Given the description of an element on the screen output the (x, y) to click on. 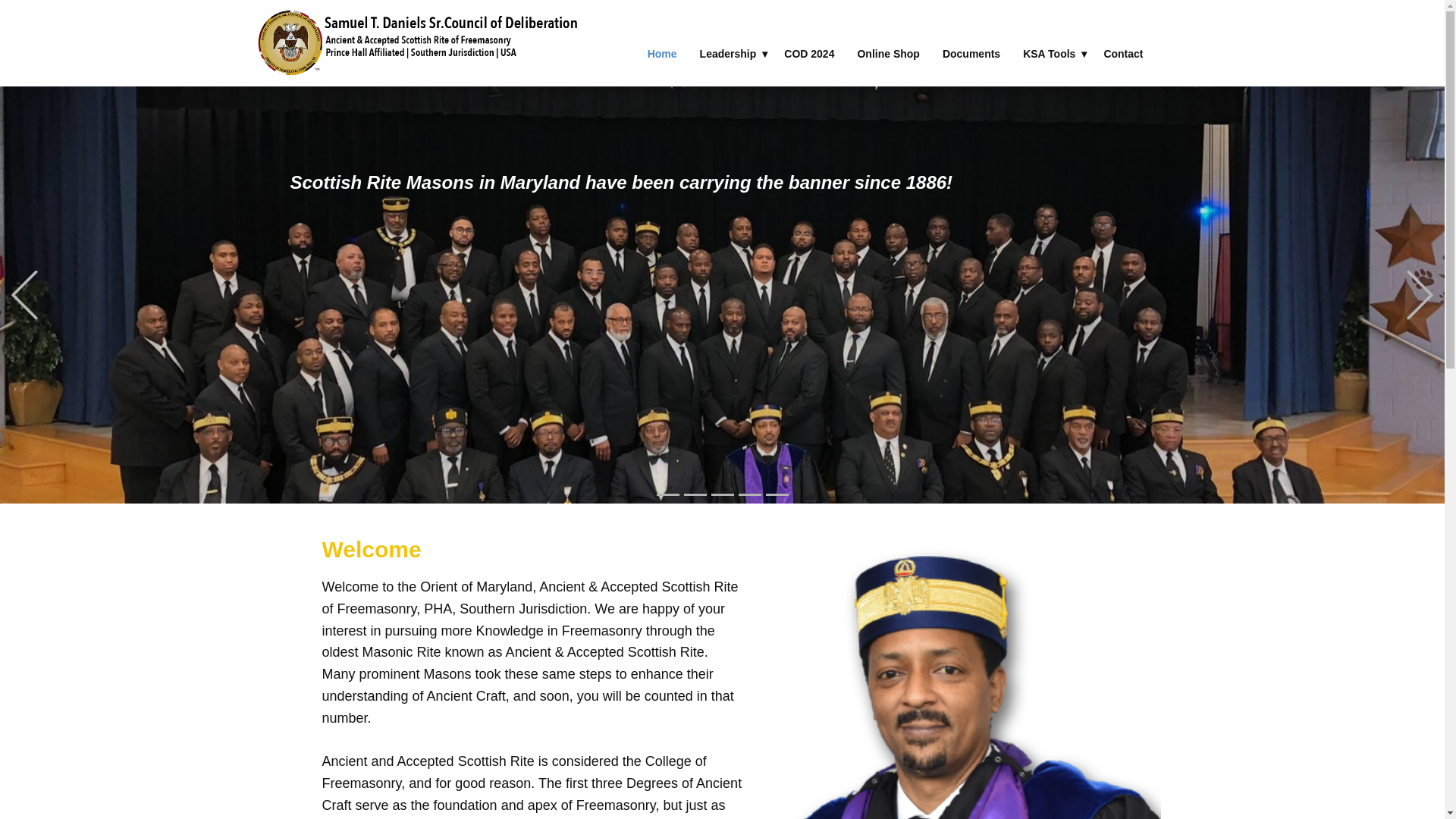
Leadership (730, 53)
Online Shop (887, 53)
COD 2024 (809, 53)
Home (662, 53)
Documents (971, 53)
KSA Tools (1051, 53)
Contact (1123, 53)
